Given the description of an element on the screen output the (x, y) to click on. 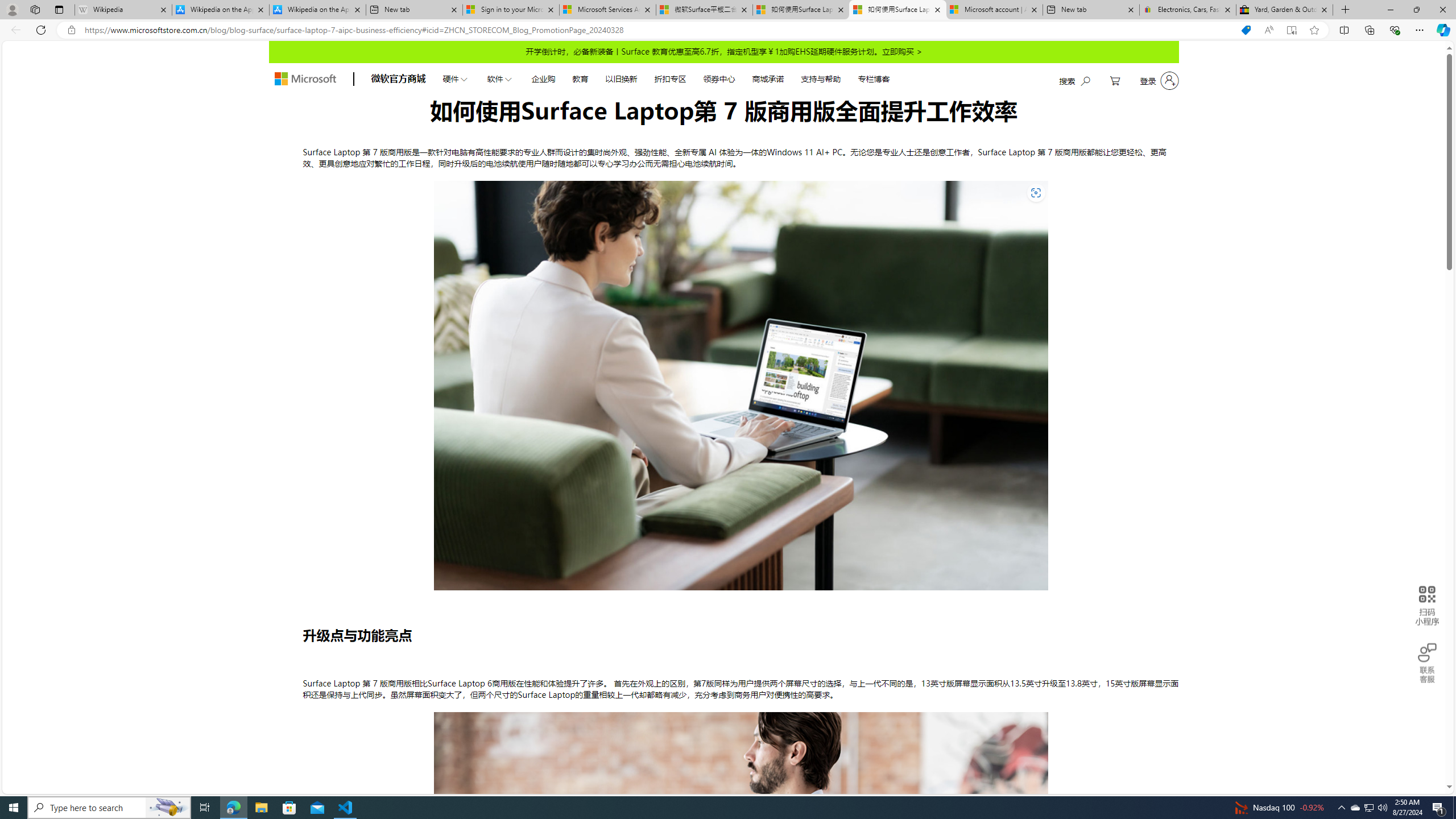
Microsoft account | Account Checkup (994, 9)
Yard, Garden & Outdoor Living (1284, 9)
Enter Immersive Reader (F9) (1291, 29)
